Given the description of an element on the screen output the (x, y) to click on. 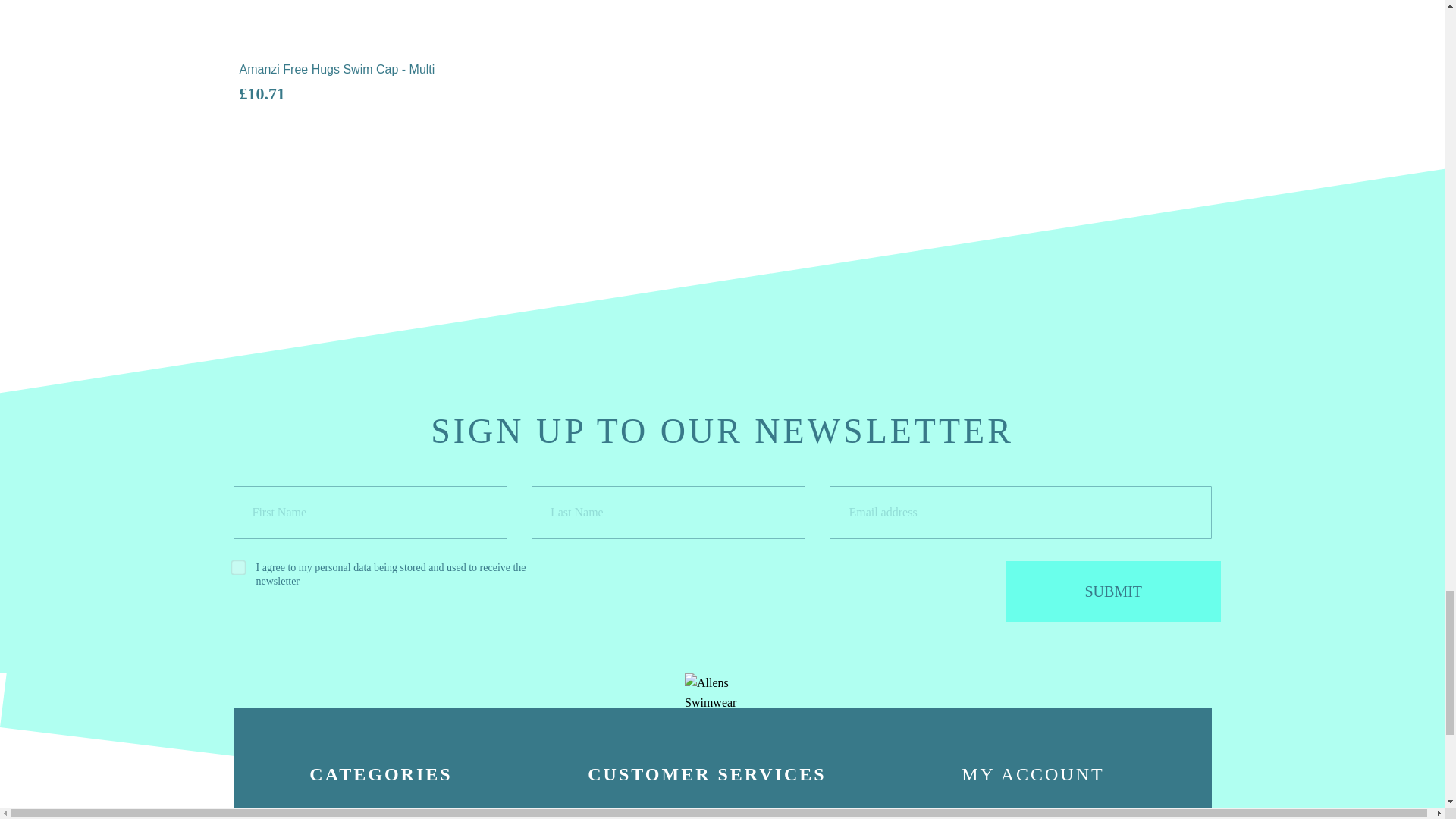
gdpr-agreement (235, 565)
